Given the description of an element on the screen output the (x, y) to click on. 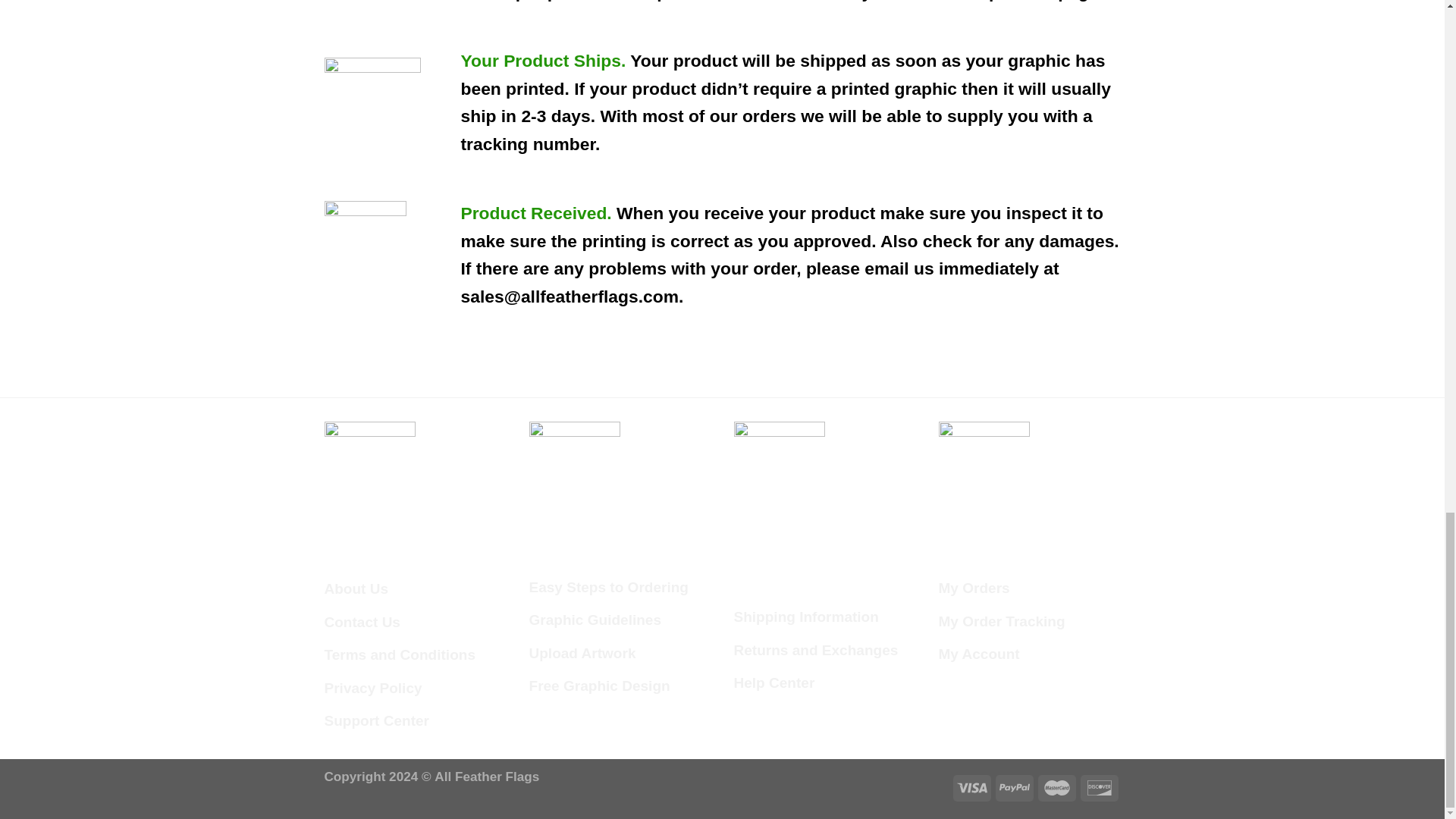
Support Center (376, 721)
Graphic Guidelines (595, 620)
Upload Artwork (582, 653)
My Order Tracking (1002, 622)
About Us (356, 589)
Shipping Information (806, 617)
Help Center (774, 683)
Terms and Conditions (400, 654)
Contact Us (362, 622)
Free Graphic Design (599, 685)
